Given the description of an element on the screen output the (x, y) to click on. 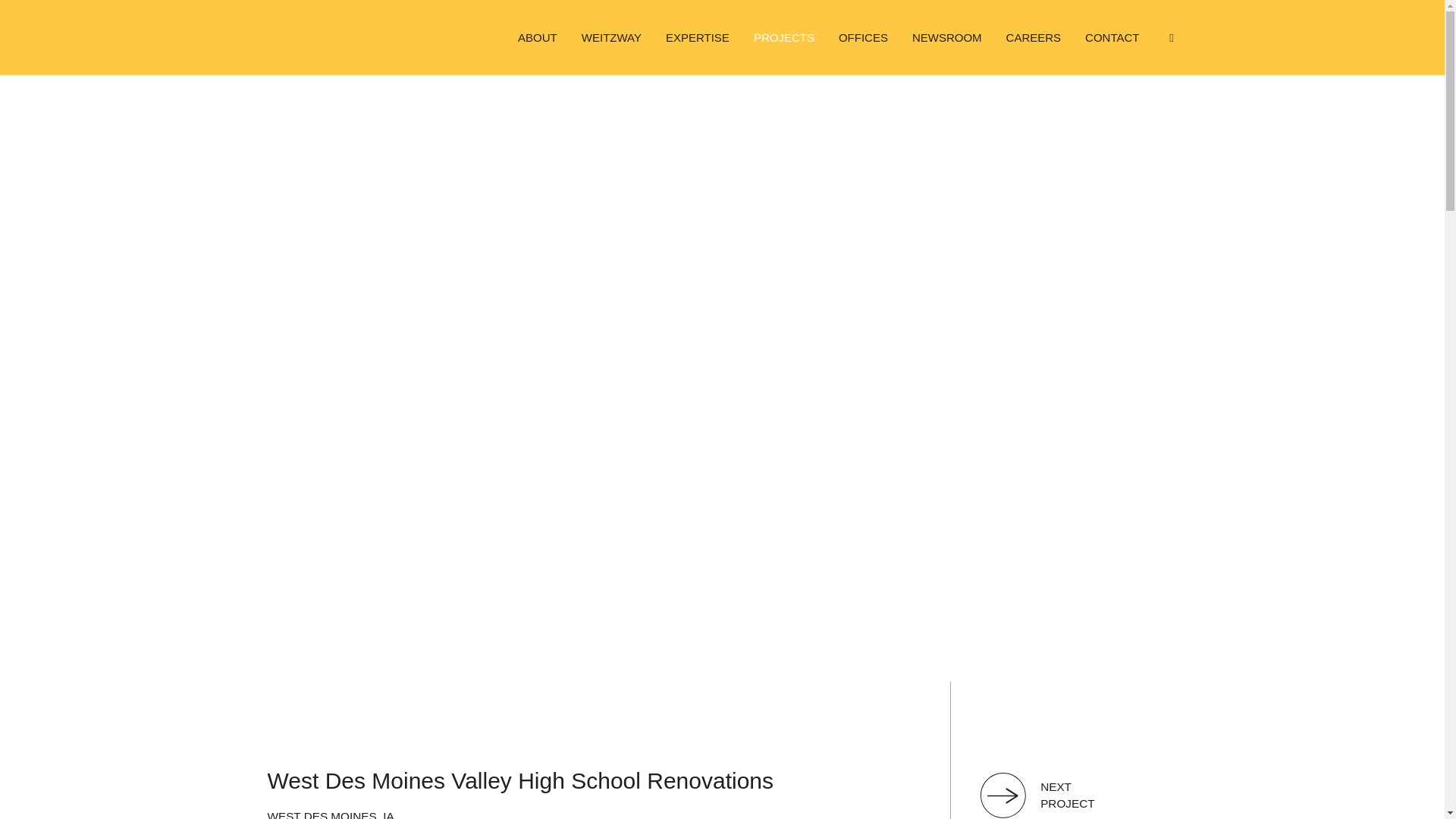
Weitz (315, 37)
OFFICES (863, 37)
Weitz (315, 37)
CAREERS (1034, 37)
NEWSROOM (946, 37)
CONTACT (1112, 37)
EXPERTISE (697, 37)
WEITZWAY (611, 37)
PROJECTS (784, 37)
